Given the description of an element on the screen output the (x, y) to click on. 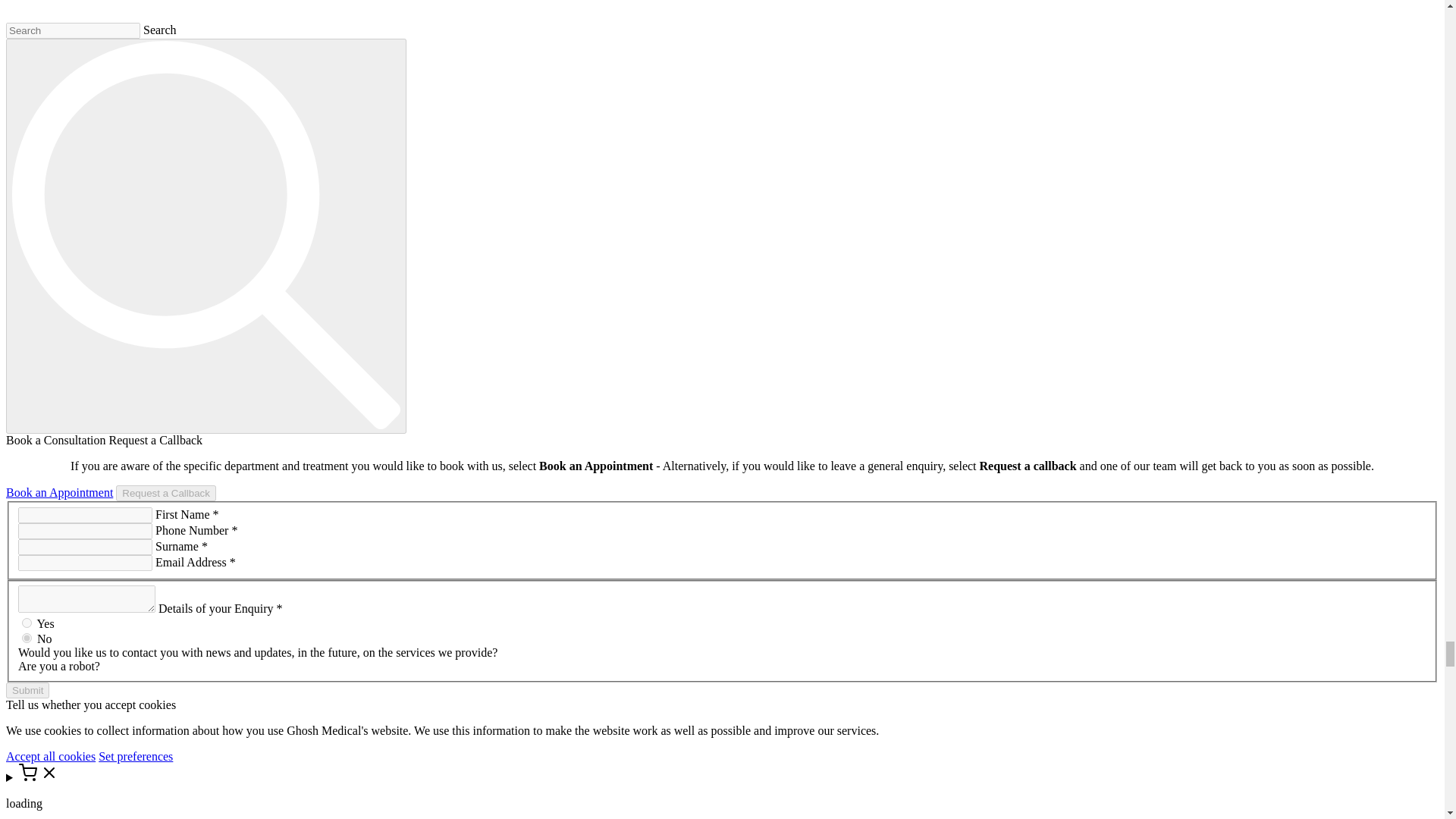
Yes (26, 623)
No (26, 637)
